Given the description of an element on the screen output the (x, y) to click on. 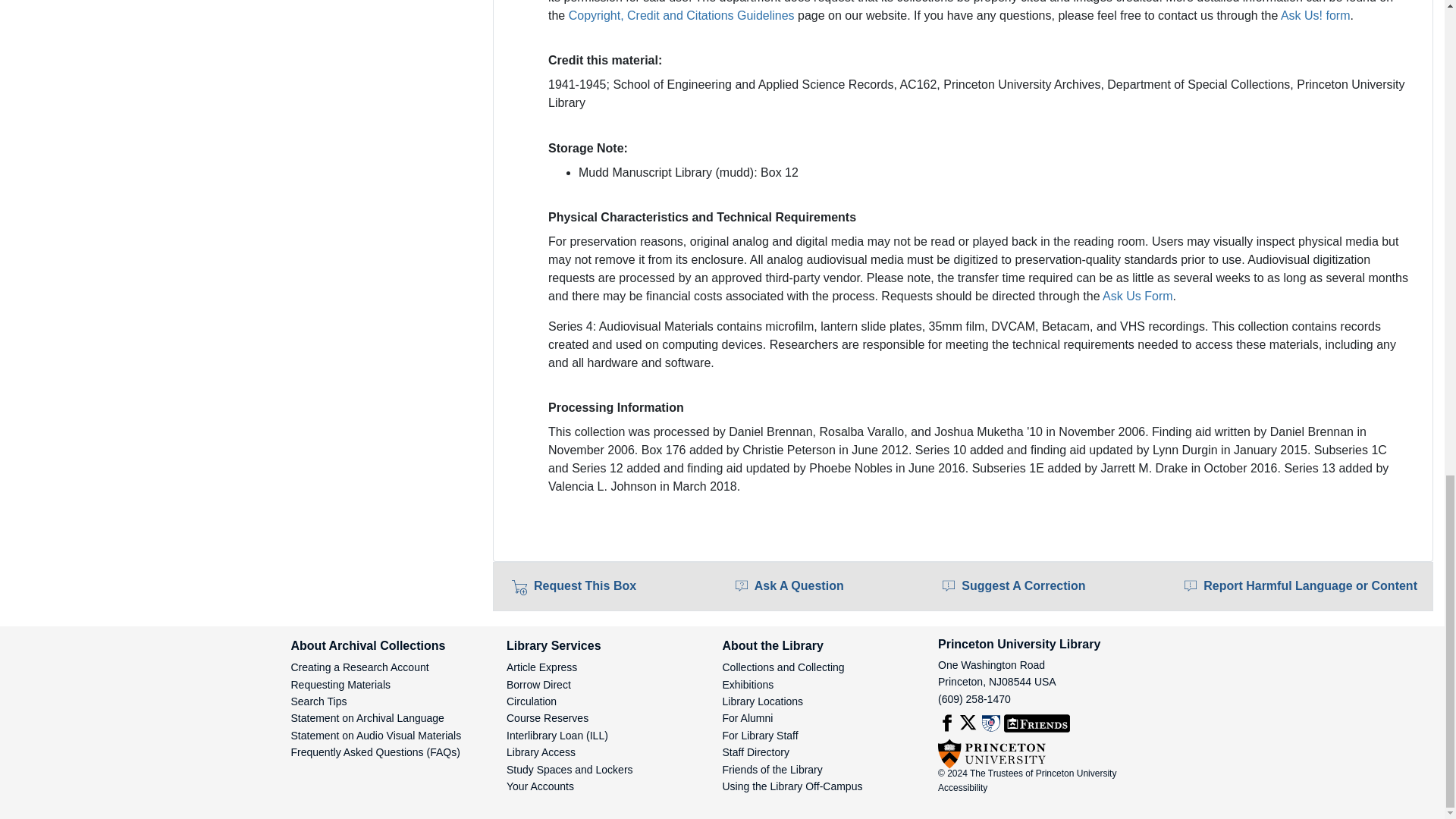
Friends of Princeton University Library (1037, 723)
Use our Interlibrary Loan and Article Express Services (541, 666)
Government Docs Logo (990, 723)
Interlibrary Loan Services, Article Express (557, 735)
Princeton University Logo (991, 753)
Twitter Logo (968, 723)
Facebook Logo (946, 723)
